Given the description of an element on the screen output the (x, y) to click on. 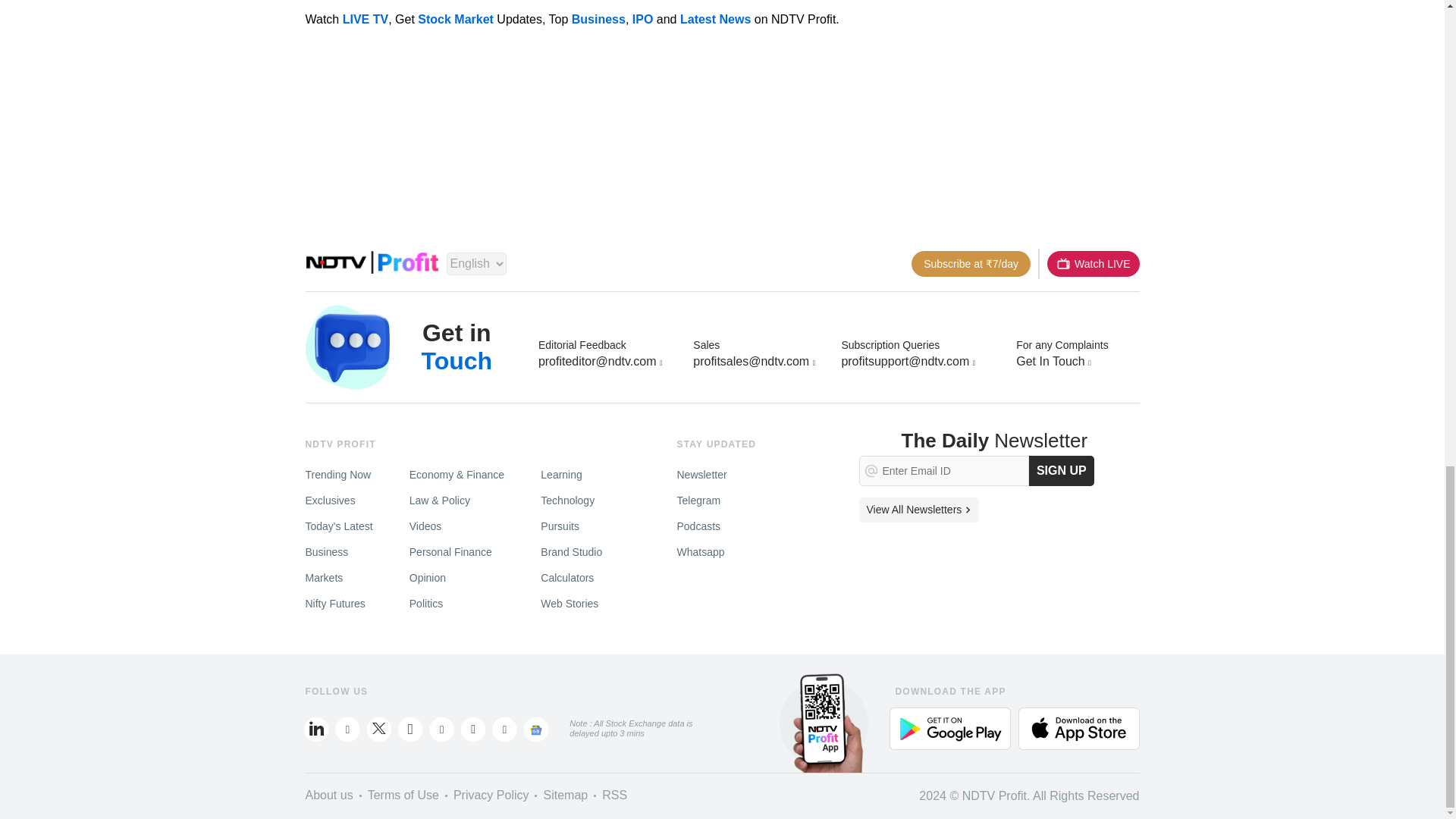
Live TV (1092, 263)
